Given the description of an element on the screen output the (x, y) to click on. 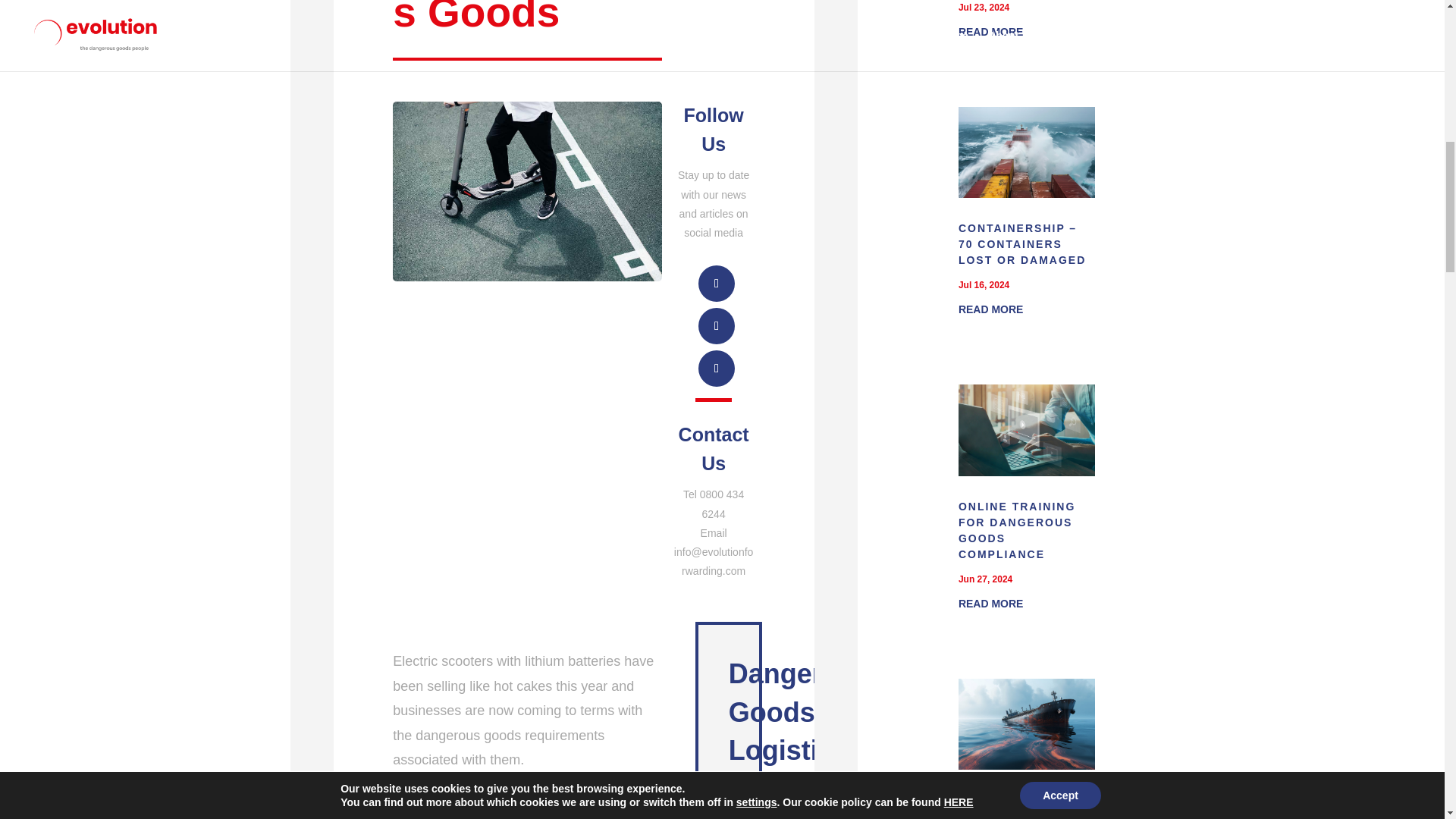
Follow on Facebook (716, 368)
Follow on LinkedIn (716, 283)
scooters (527, 190)
Follow on X (716, 325)
